Given the description of an element on the screen output the (x, y) to click on. 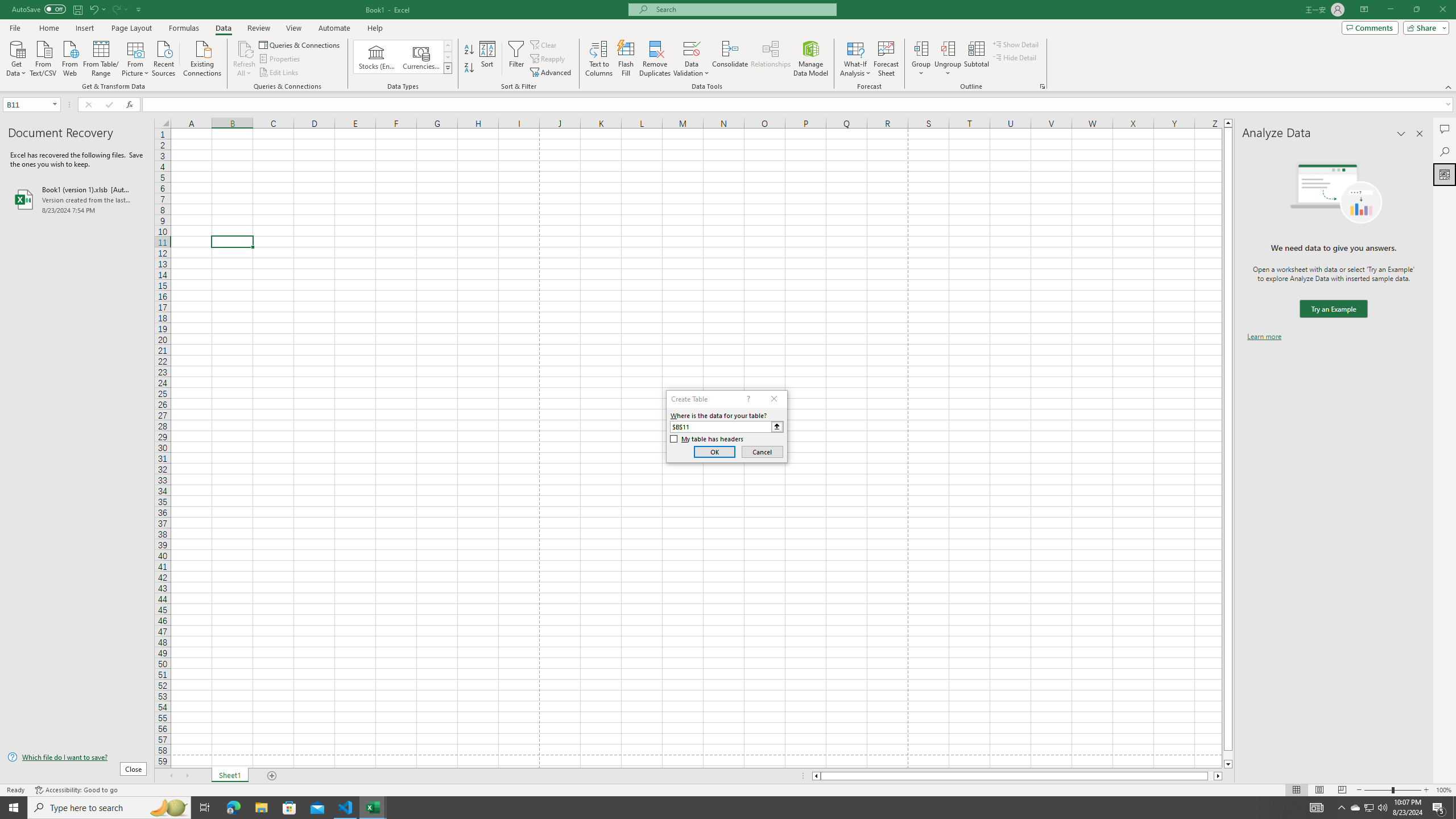
Currencies (English) (420, 56)
Row Down (448, 56)
We need data to give you answers. Try an Example (1333, 308)
Stocks (English) (375, 56)
